Given the description of an element on the screen output the (x, y) to click on. 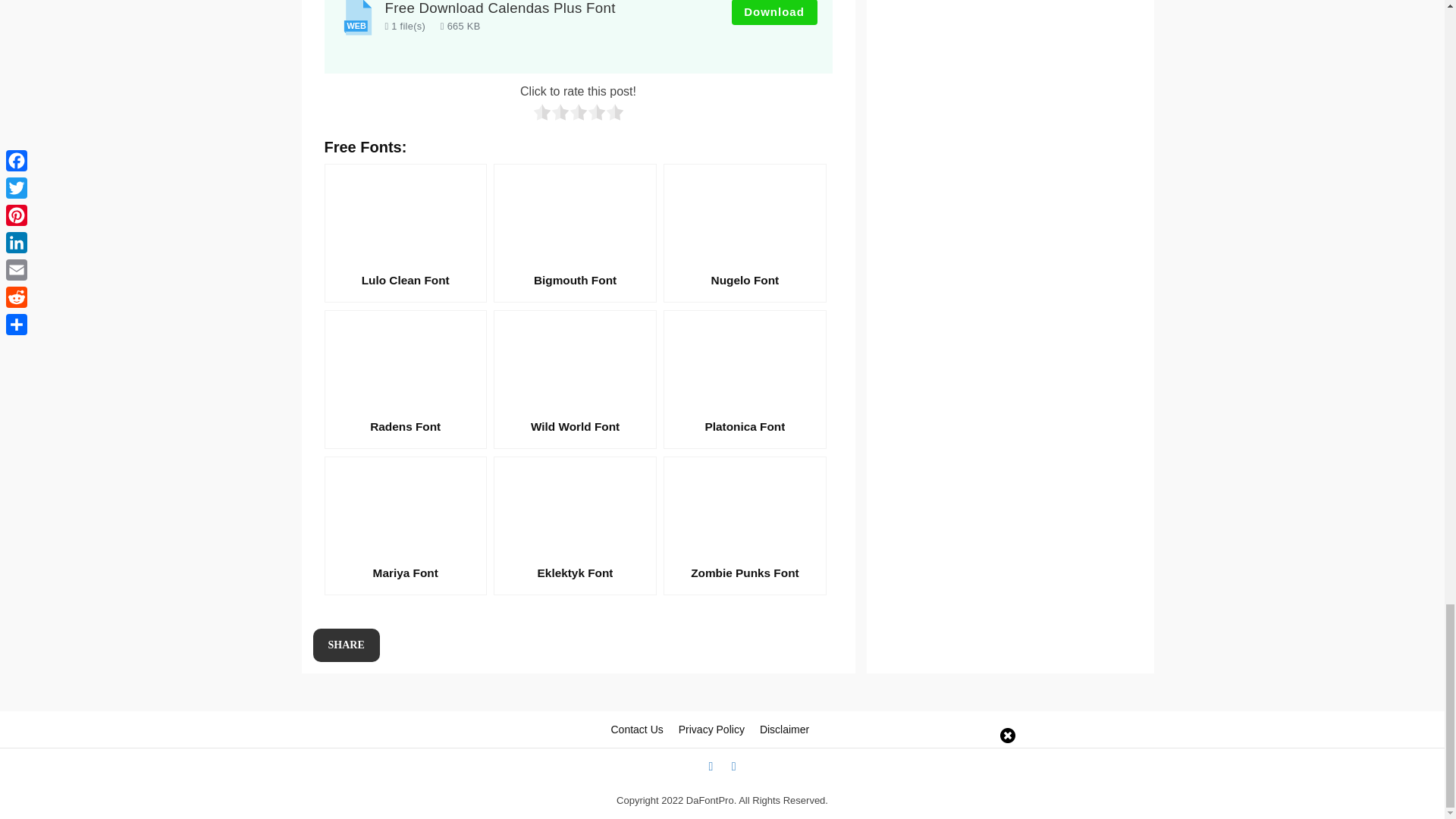
Zombie Punks Font (744, 525)
Eklektyk Font (574, 525)
Lulo Clean Font (405, 232)
Bigmouth Font (574, 232)
Zombie Punks Font (744, 525)
Nugelo Font (744, 232)
Bigmouth Font (574, 232)
Platonica Font (744, 379)
Mariya Font (405, 525)
Lulo Clean Font (405, 232)
